Given the description of an element on the screen output the (x, y) to click on. 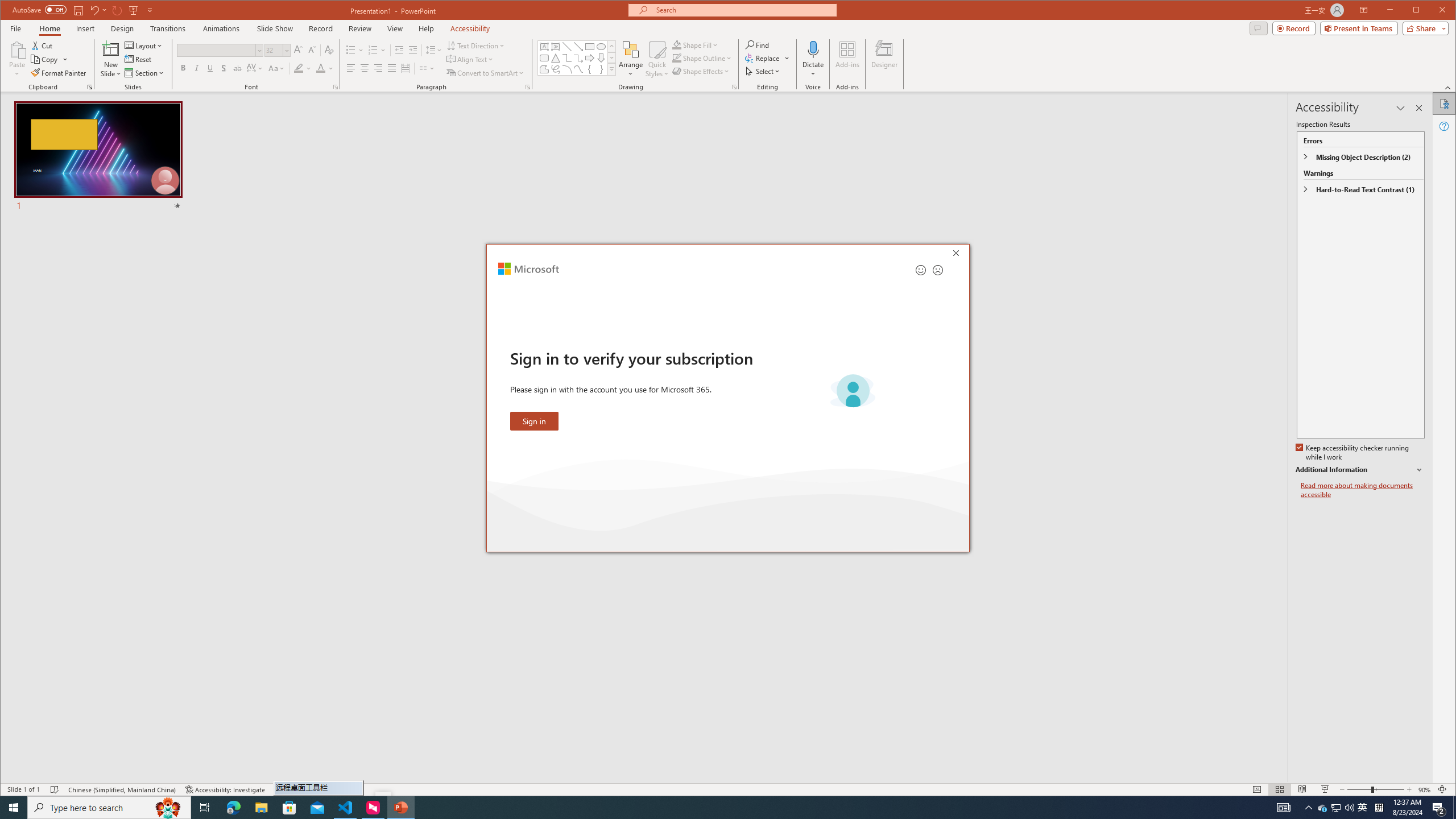
Shape Fill Orange, Accent 2 (676, 44)
